Given the description of an element on the screen output the (x, y) to click on. 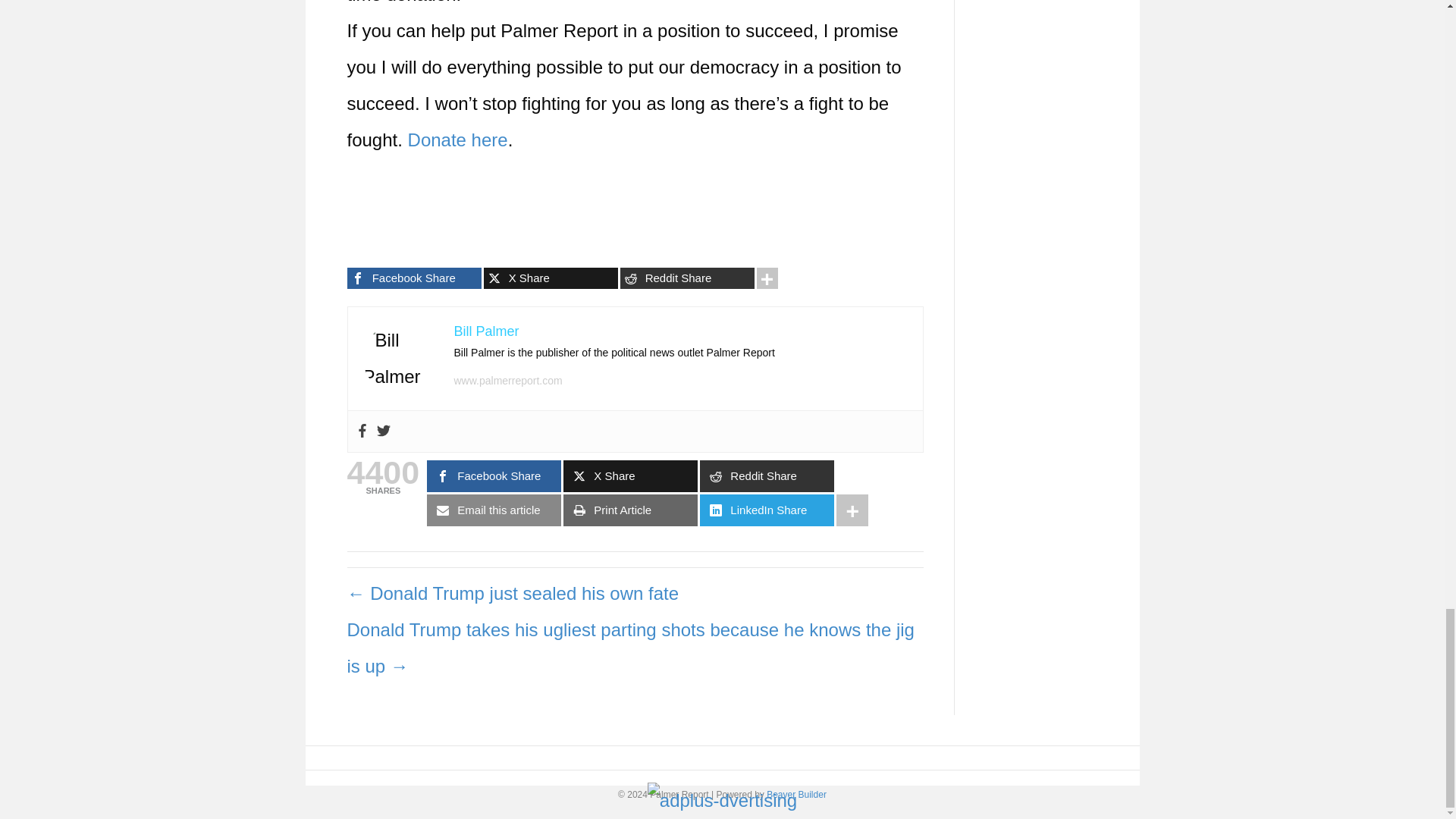
X Share (550, 278)
Donate here (457, 139)
Twitter (382, 431)
WordPress Page Builder Plugin (797, 794)
Reddit Share (687, 278)
Facebook (361, 431)
Facebook Share (414, 278)
